Given the description of an element on the screen output the (x, y) to click on. 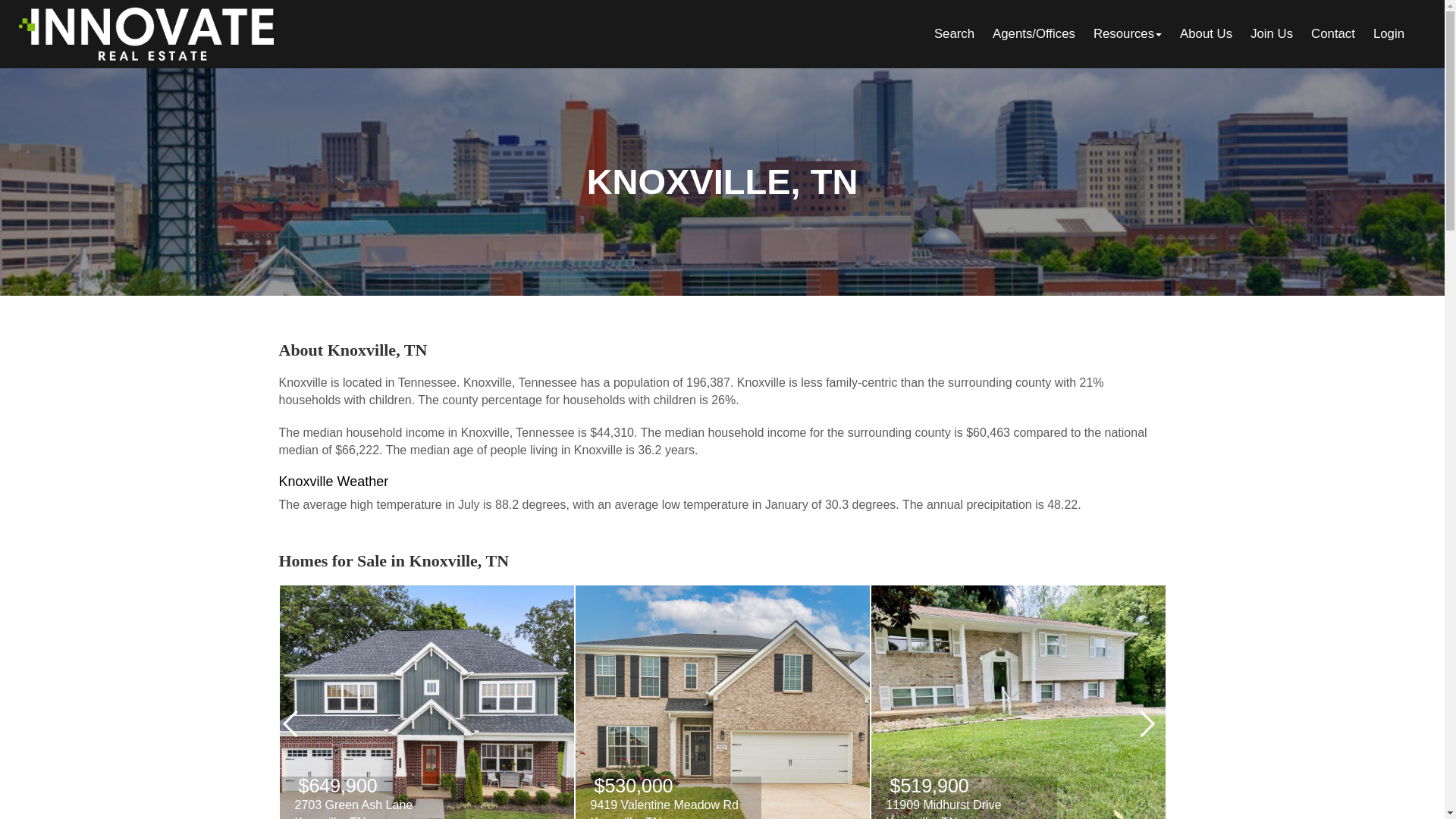
Join Us (1271, 33)
Contact (1332, 33)
Login (1388, 33)
About Us (1205, 33)
Resources (1127, 33)
Search (954, 33)
